Given the description of an element on the screen output the (x, y) to click on. 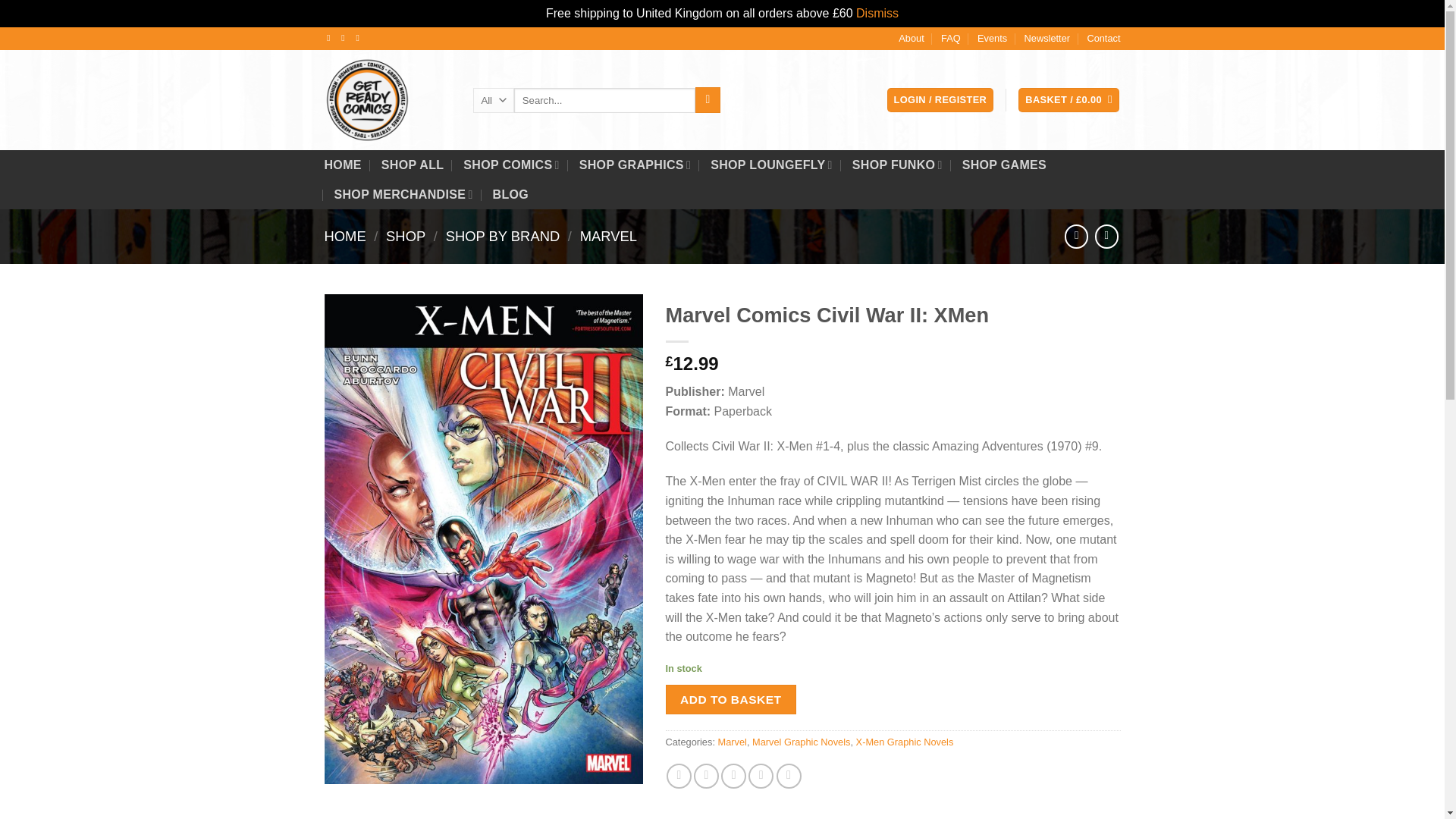
Search (707, 99)
Share on Facebook (678, 775)
HOME (342, 165)
Events (991, 38)
Share on Twitter (706, 775)
About (910, 38)
Pin on Pinterest (760, 775)
Dismiss (877, 12)
SHOP COMICS (511, 164)
Login (940, 100)
Get Ready Comics - Comic Book Shop, Rochester, Kent (386, 99)
SHOP LOUNGEFLY (771, 164)
Contact (1102, 38)
SHOP ALL (412, 165)
Share on Tumblr (789, 775)
